Given the description of an element on the screen output the (x, y) to click on. 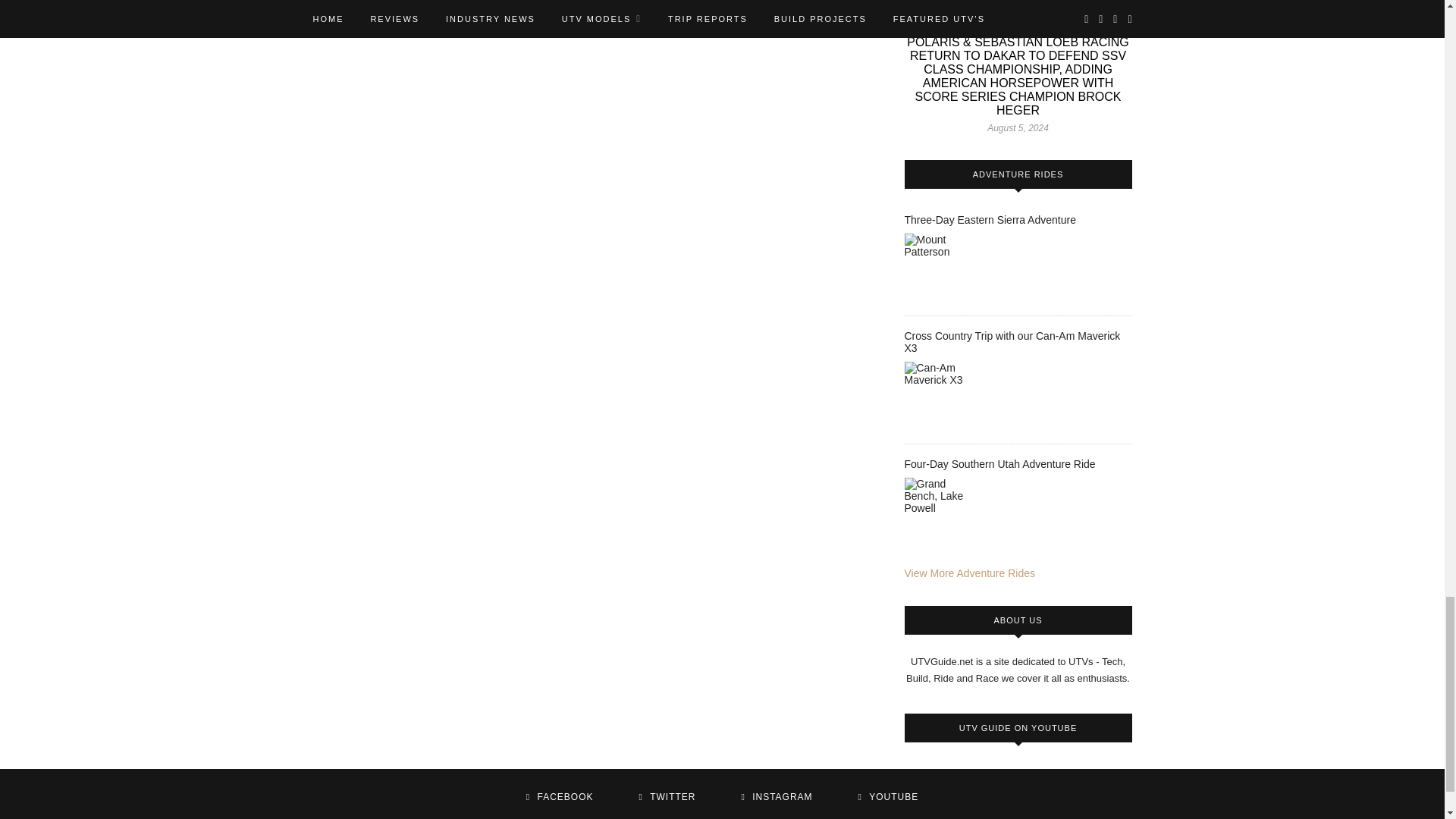
Three-Day Eastern Sierra Adventure (941, 271)
Cross Country Trip with our Can-Am Maverick X3 (941, 399)
Four-Day Southern Utah Adventure Ride (941, 515)
